Given the description of an element on the screen output the (x, y) to click on. 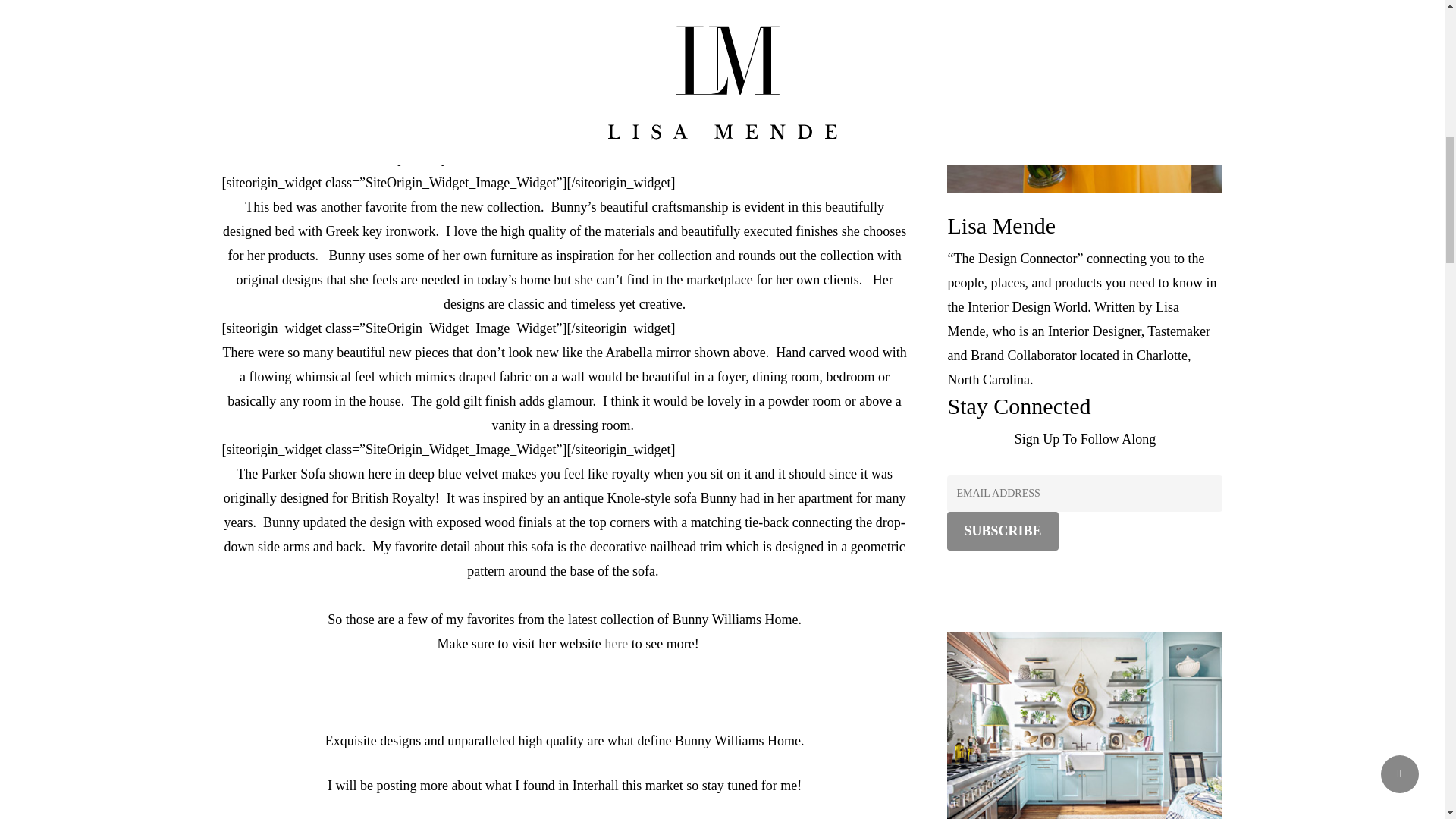
here (615, 643)
SUBSCRIBE (1002, 530)
SUBSCRIBE (1002, 530)
